Given the description of an element on the screen output the (x, y) to click on. 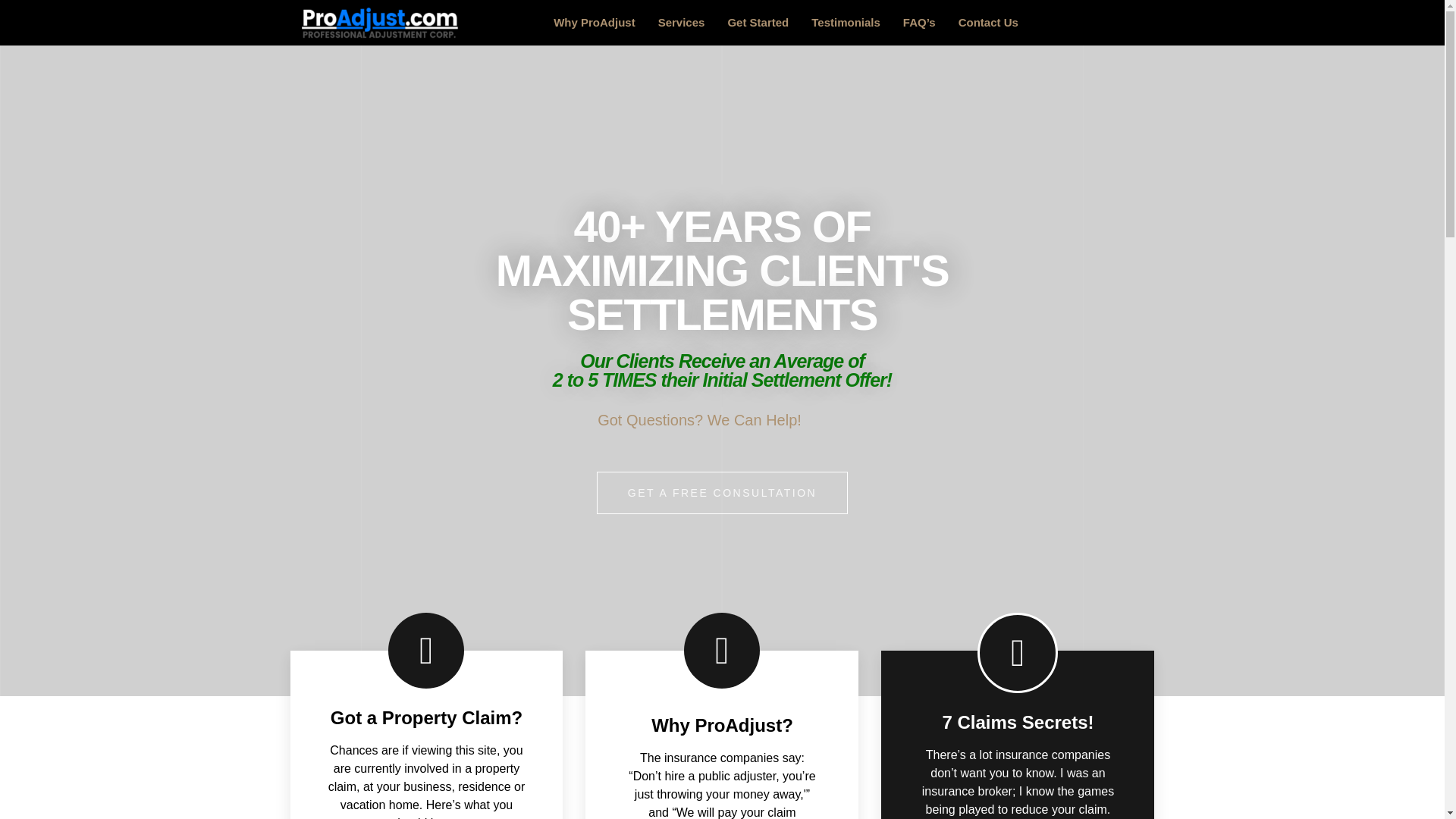
7 Claims Secrets! (1017, 721)
Services (681, 22)
Contact Us (988, 22)
Why ProAdjust (593, 22)
GET A FREE CONSULTATION (721, 492)
Got a Property Claim? (426, 717)
Why ProAdjust? (721, 724)
Testimonials (845, 22)
Get Started (757, 22)
